Given the description of an element on the screen output the (x, y) to click on. 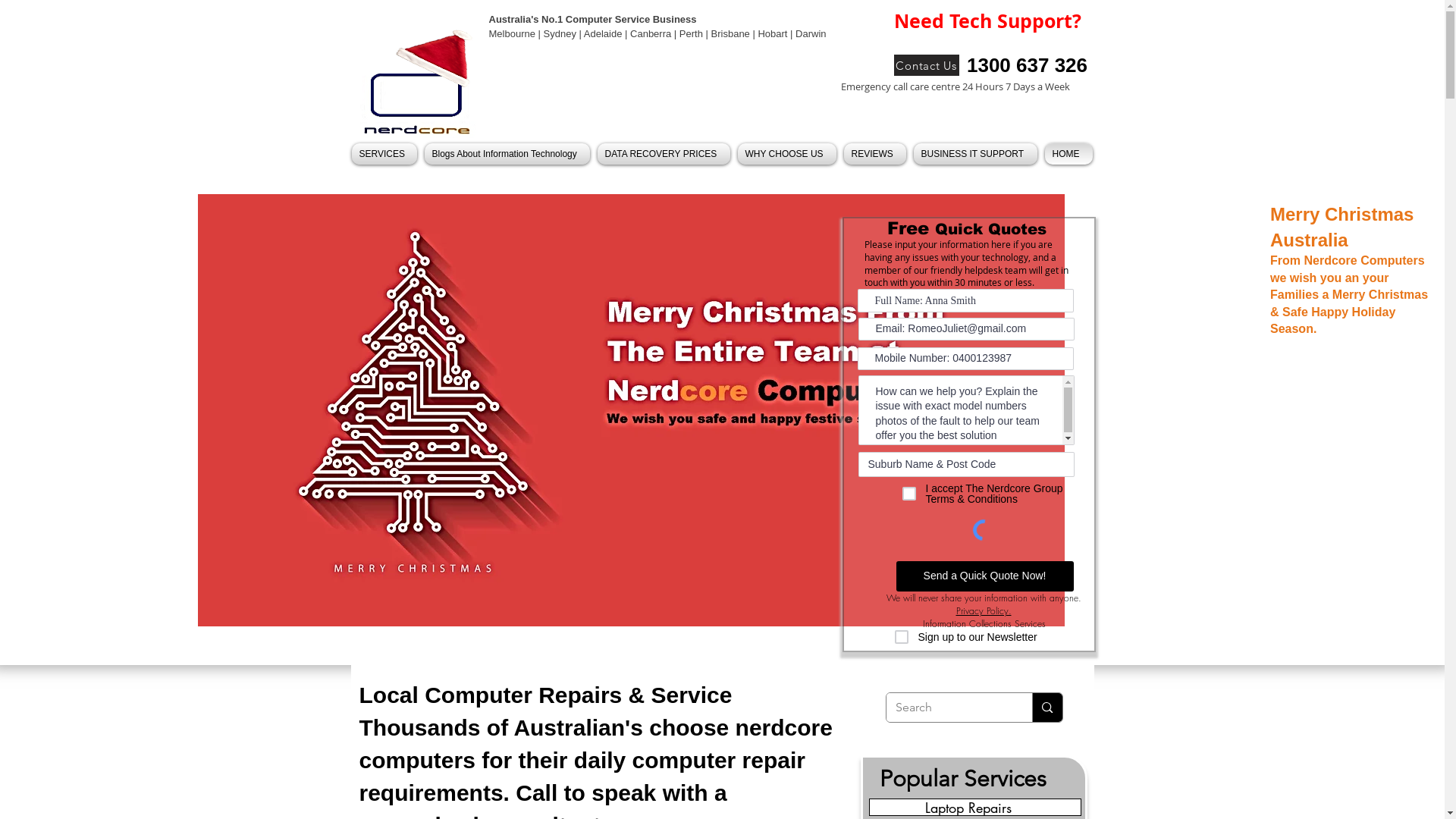
Canberra Element type: text (650, 33)
Laptop Repairs Element type: text (975, 806)
HOME Element type: text (1066, 153)
Melbourne Element type: text (511, 33)
BUSINESS IT SUPPORT Element type: text (975, 153)
Nercdore Computer Repairs Element type: hover (416, 103)
DATA RECOVERY PRICES Element type: text (663, 153)
Send a Quick Quote Now! Element type: text (984, 576)
Brisbane Element type: text (730, 33)
Hobart Element type: text (773, 33)
Contact Us Element type: text (925, 64)
Perth Element type: text (692, 33)
REVIEWS Element type: text (875, 153)
Privacy Policy. Element type: text (982, 610)
1300 637 326 Element type: text (1027, 65)
Blogs About Information Technology Element type: text (506, 153)
Sydney Element type: text (559, 33)
Adelaide Element type: text (602, 33)
WHY CHOOSE US Element type: text (787, 153)
